Given the description of an element on the screen output the (x, y) to click on. 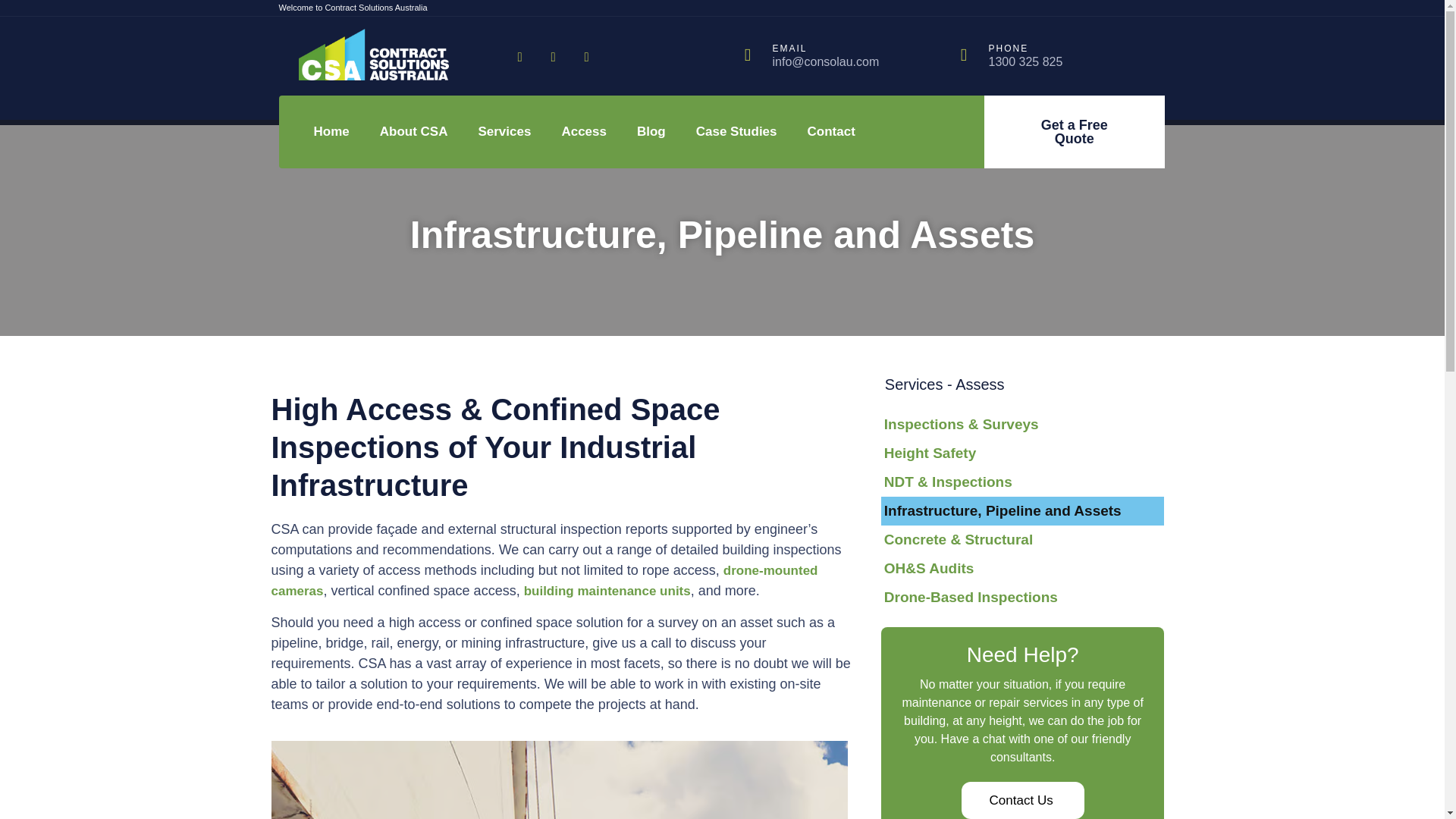
Case Studies Element type: text (736, 131)
Concrete & Structural Element type: text (1022, 539)
Contact Element type: text (831, 131)
Access Element type: text (583, 131)
building maintenance units Element type: text (607, 590)
Get a Free Quote Element type: text (1074, 131)
Drone-Based Inspections Element type: text (1022, 597)
About CSA Element type: text (413, 131)
NDT & Inspections Element type: text (1022, 481)
Height Safety Element type: text (1022, 453)
PHONE Element type: text (1008, 48)
Services Element type: text (504, 131)
Infrastructure, Pipeline and Assets Element type: text (1022, 510)
OH&S Audits Element type: text (1022, 568)
EMAIL Element type: text (788, 48)
Inspections & Surveys Element type: text (1022, 424)
drone-mounted cameras Element type: text (544, 580)
Home Element type: text (331, 131)
Blog Element type: text (650, 131)
